Given the description of an element on the screen output the (x, y) to click on. 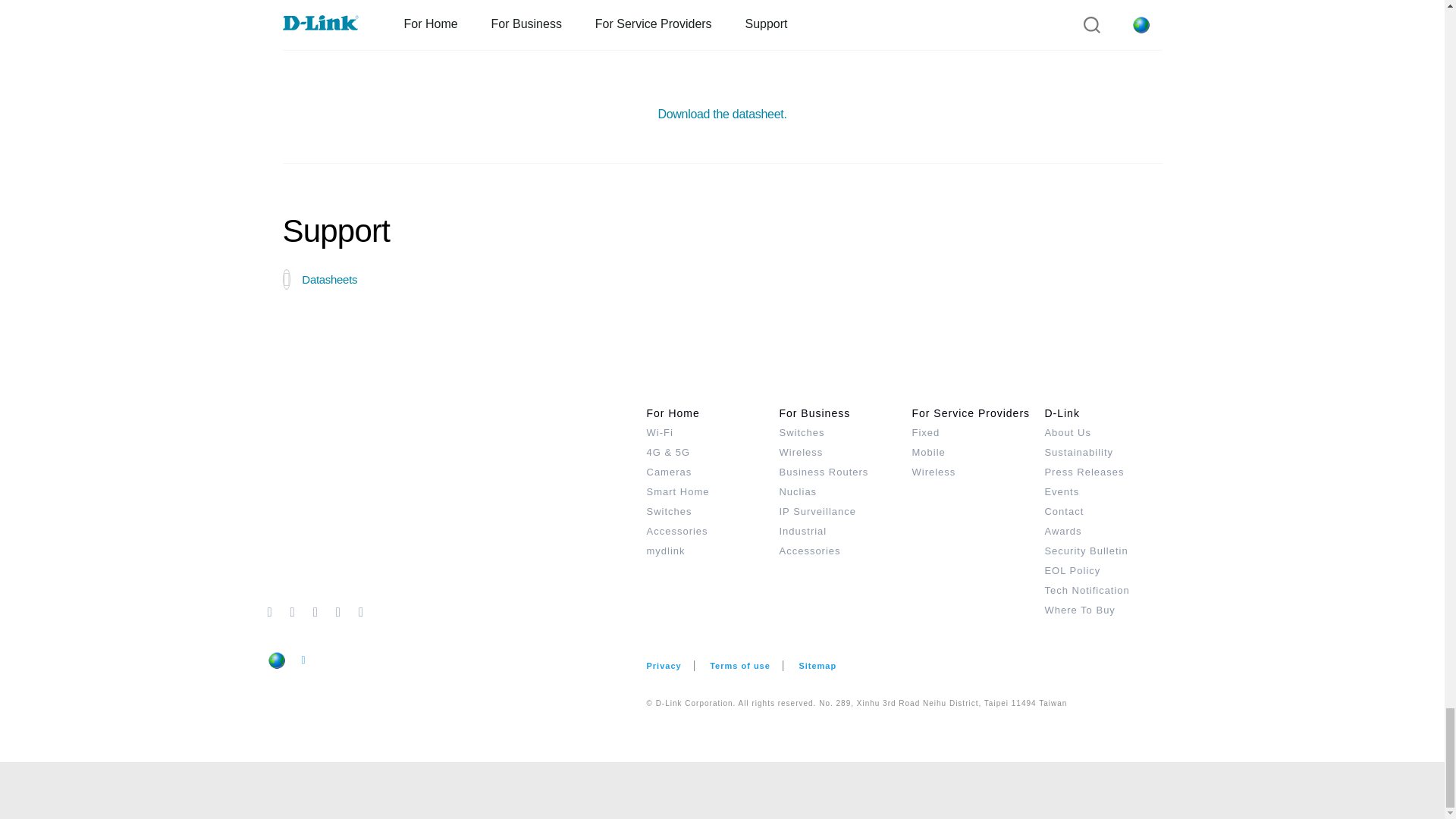
D-Link (456, 502)
Download the datasheet. (722, 113)
